Given the description of an element on the screen output the (x, y) to click on. 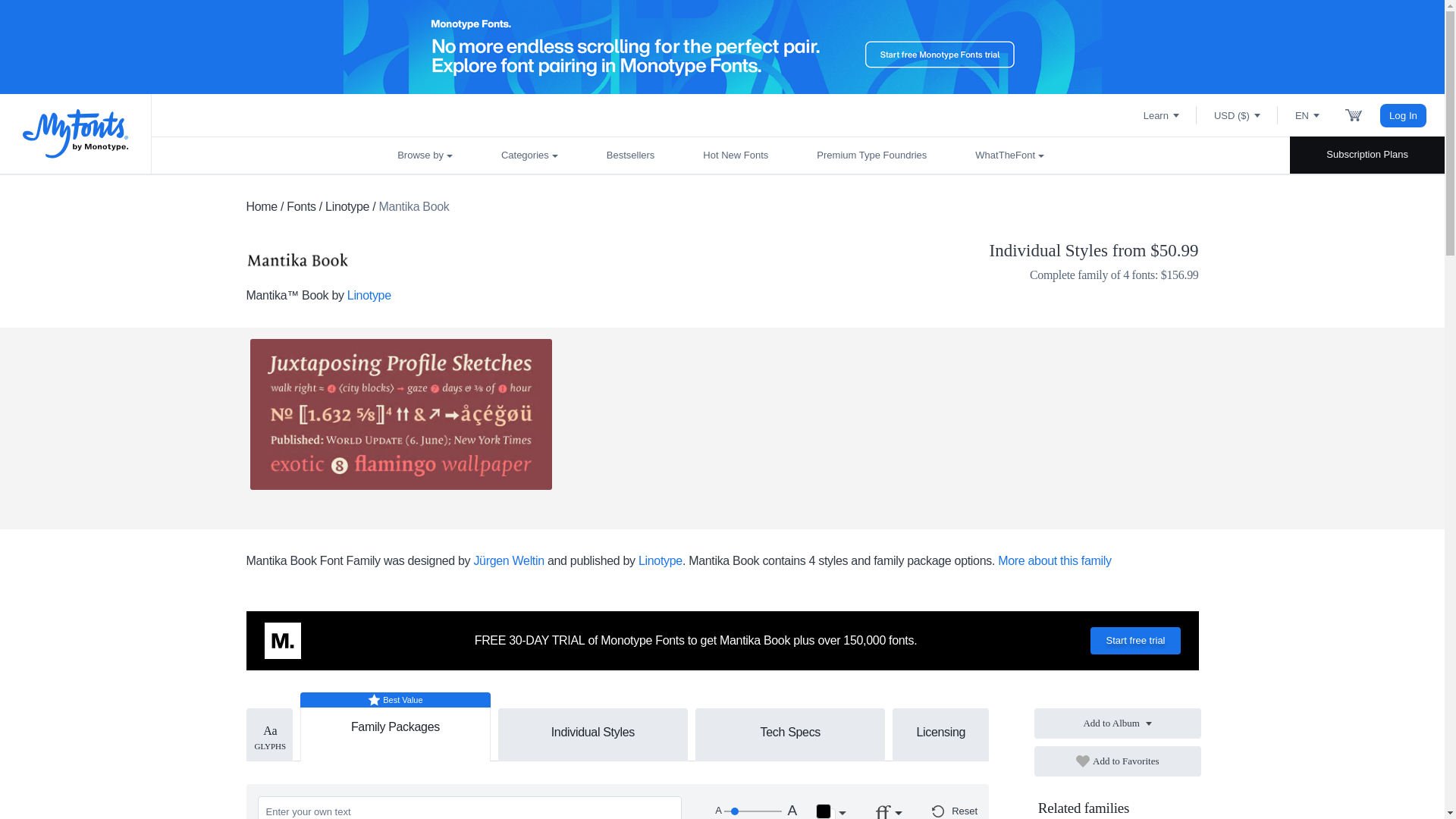
Log In (1403, 114)
MyFonts (75, 133)
Individual Styles (593, 731)
Skip to content (72, 27)
Tech Specs (789, 731)
Licensing (940, 731)
Family Packages (395, 719)
